Given the description of an element on the screen output the (x, y) to click on. 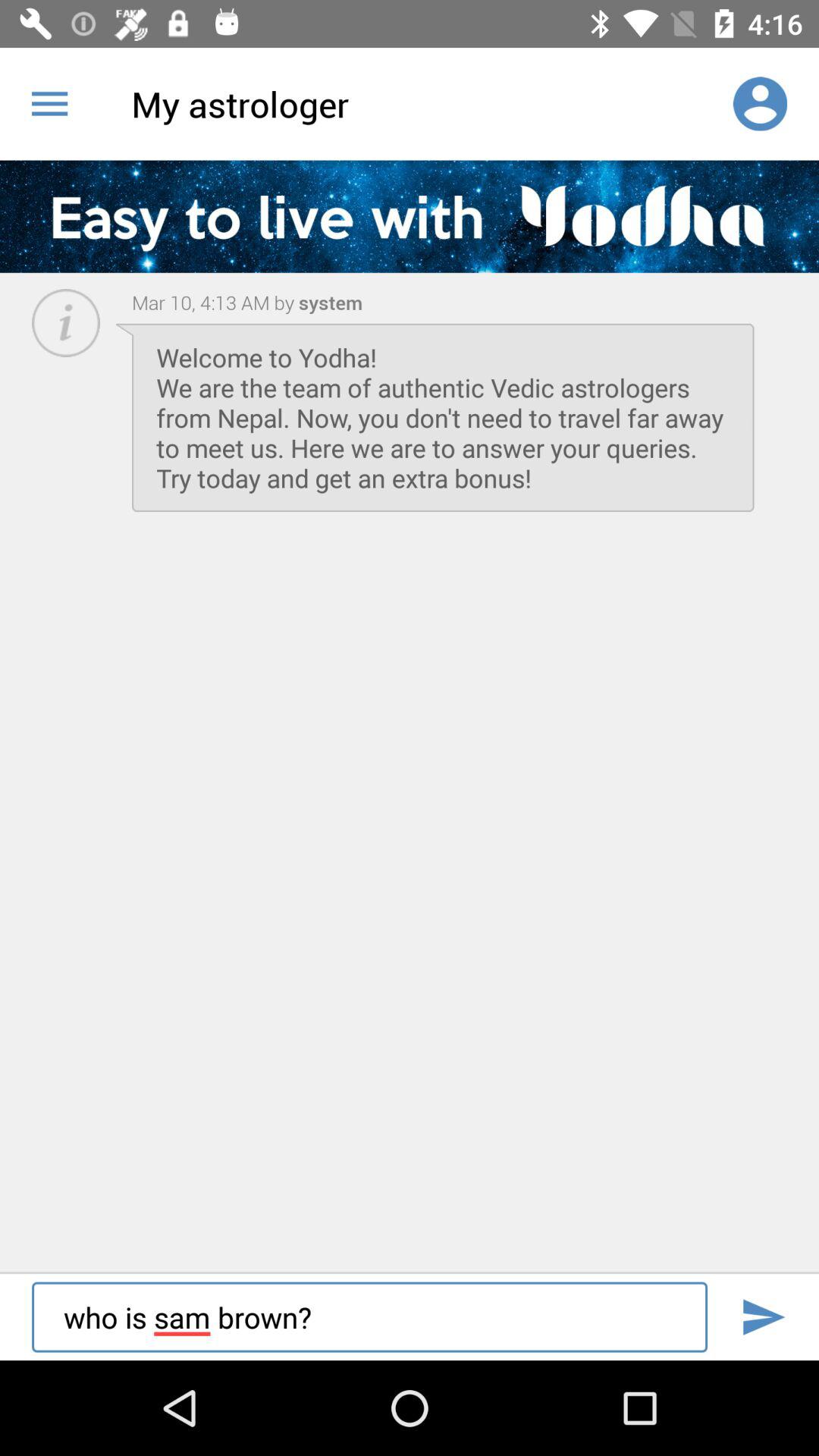
turn on the icon above the welcome to yodha item (212, 302)
